Given the description of an element on the screen output the (x, y) to click on. 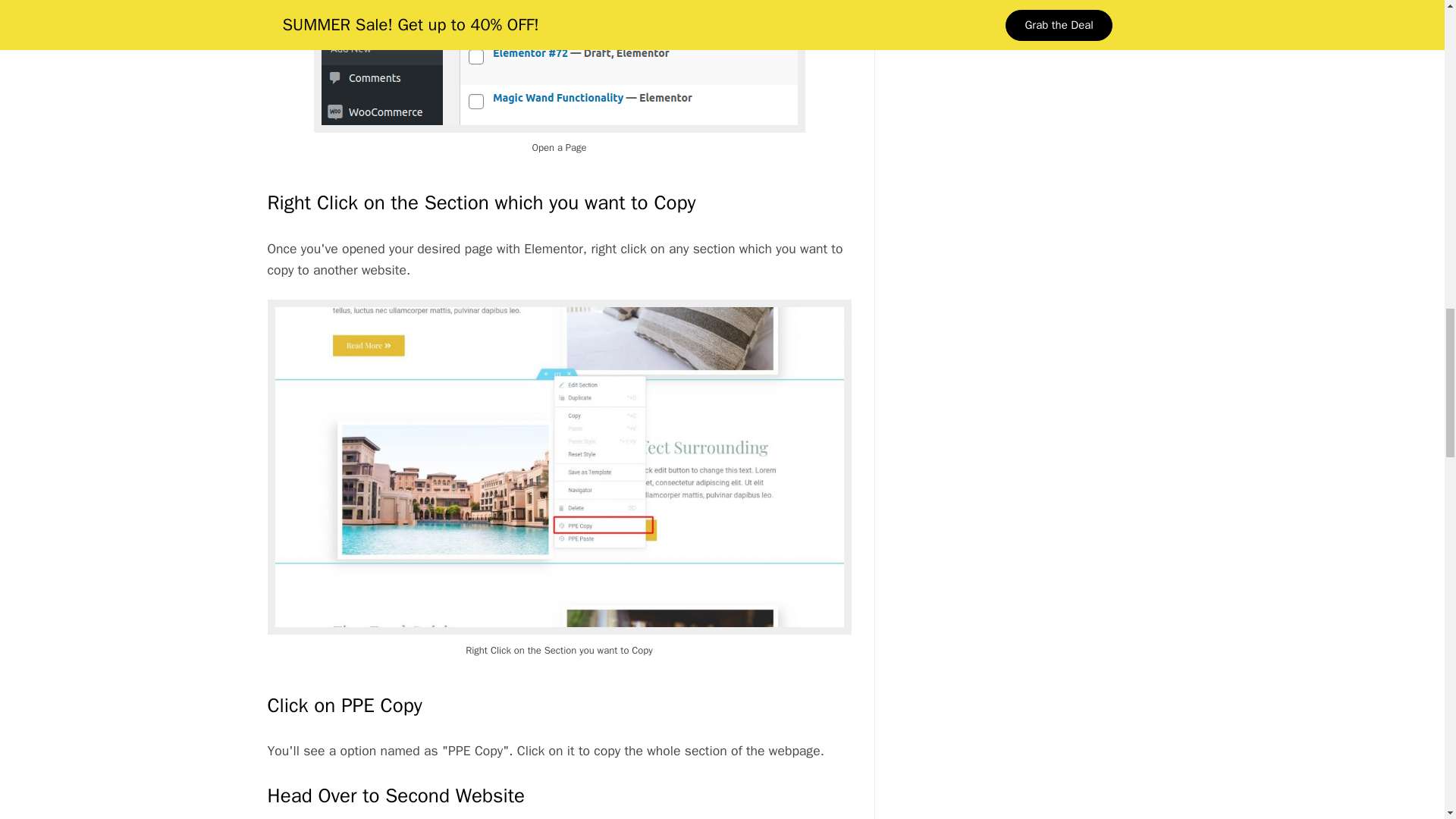
Open a Page (559, 66)
